Given the description of an element on the screen output the (x, y) to click on. 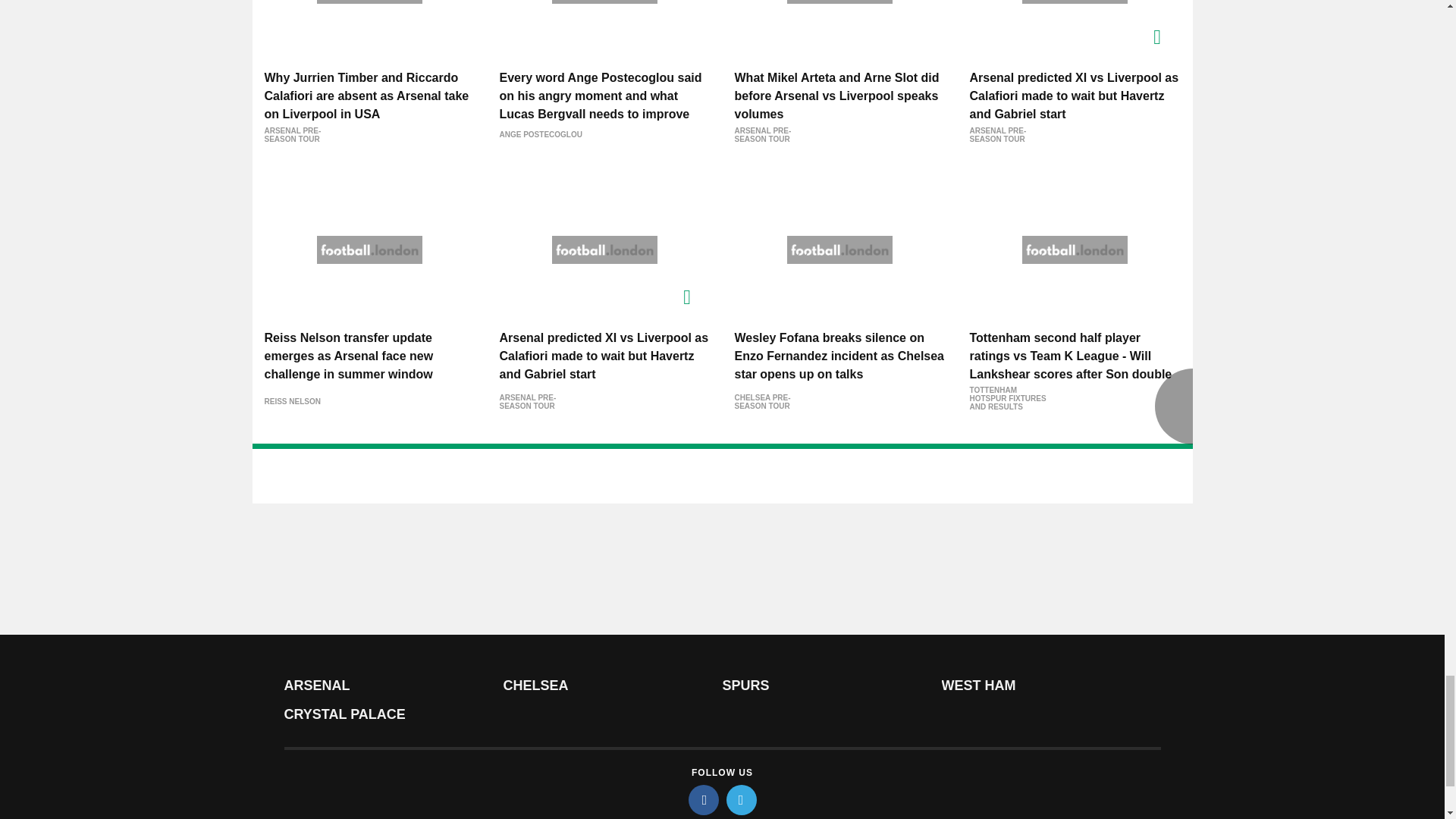
facebook (703, 799)
twitter (741, 799)
